Given the description of an element on the screen output the (x, y) to click on. 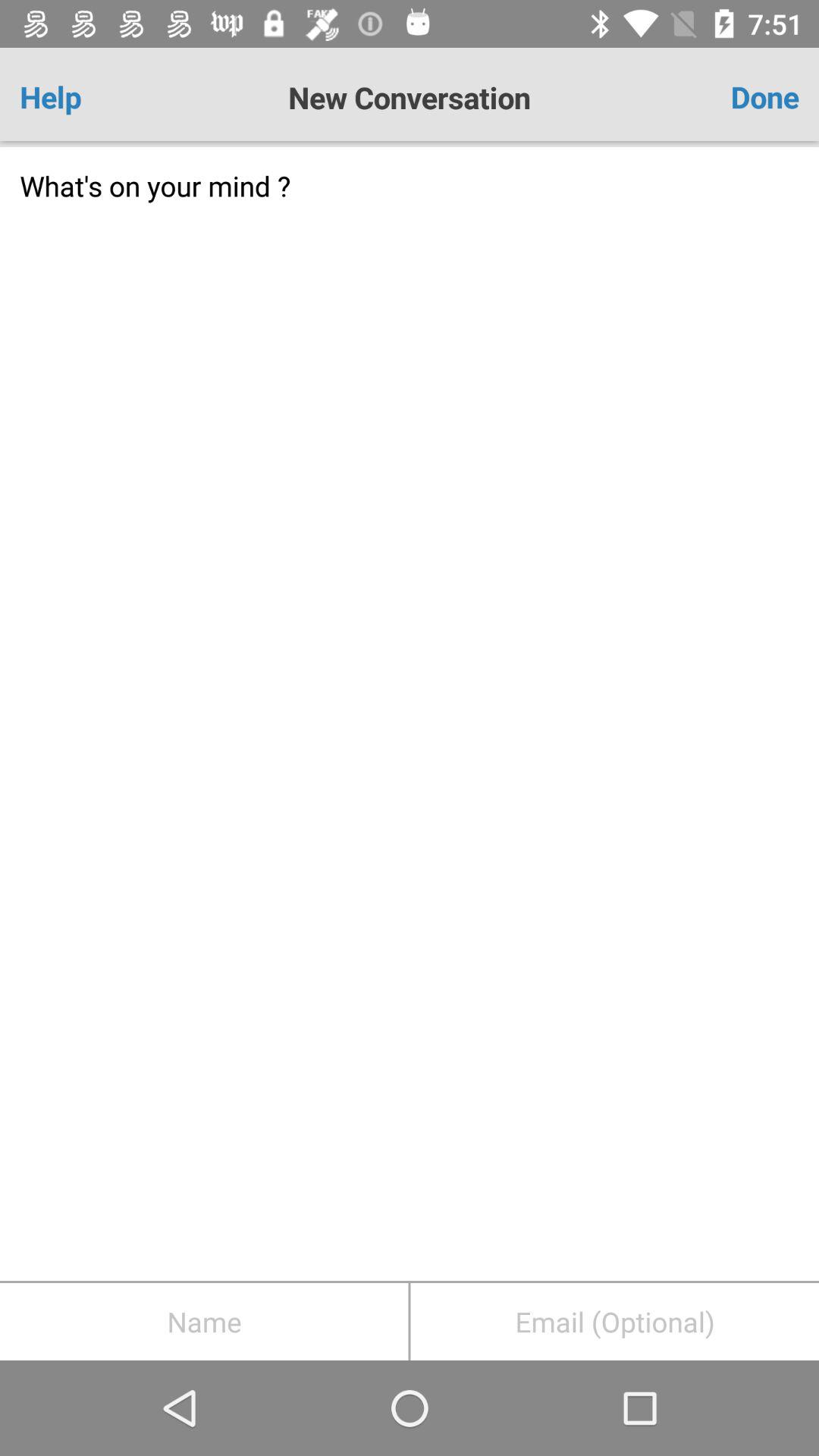
type in your conversation (409, 713)
